Given the description of an element on the screen output the (x, y) to click on. 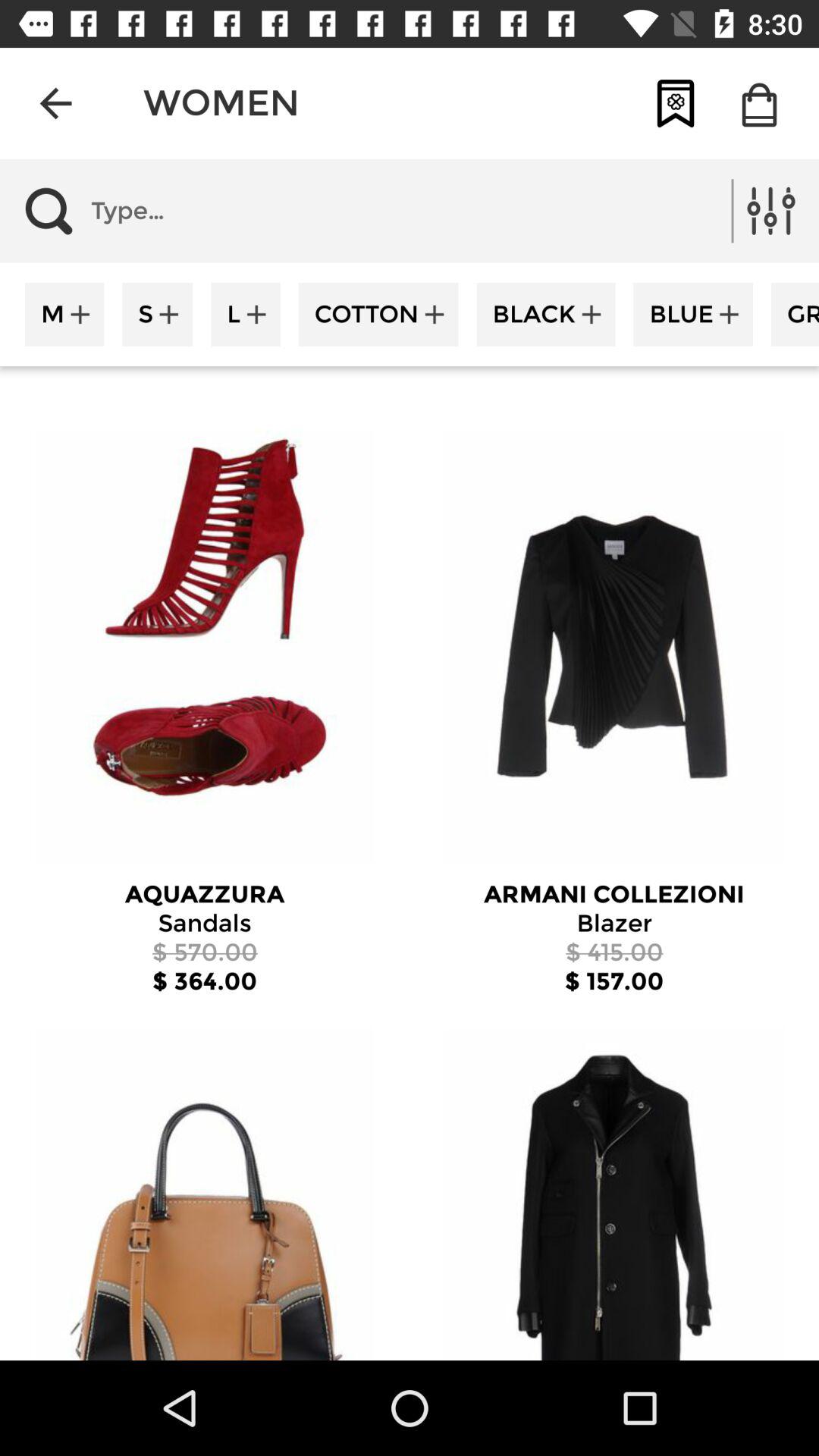
select the blue item (693, 314)
